Given the description of an element on the screen output the (x, y) to click on. 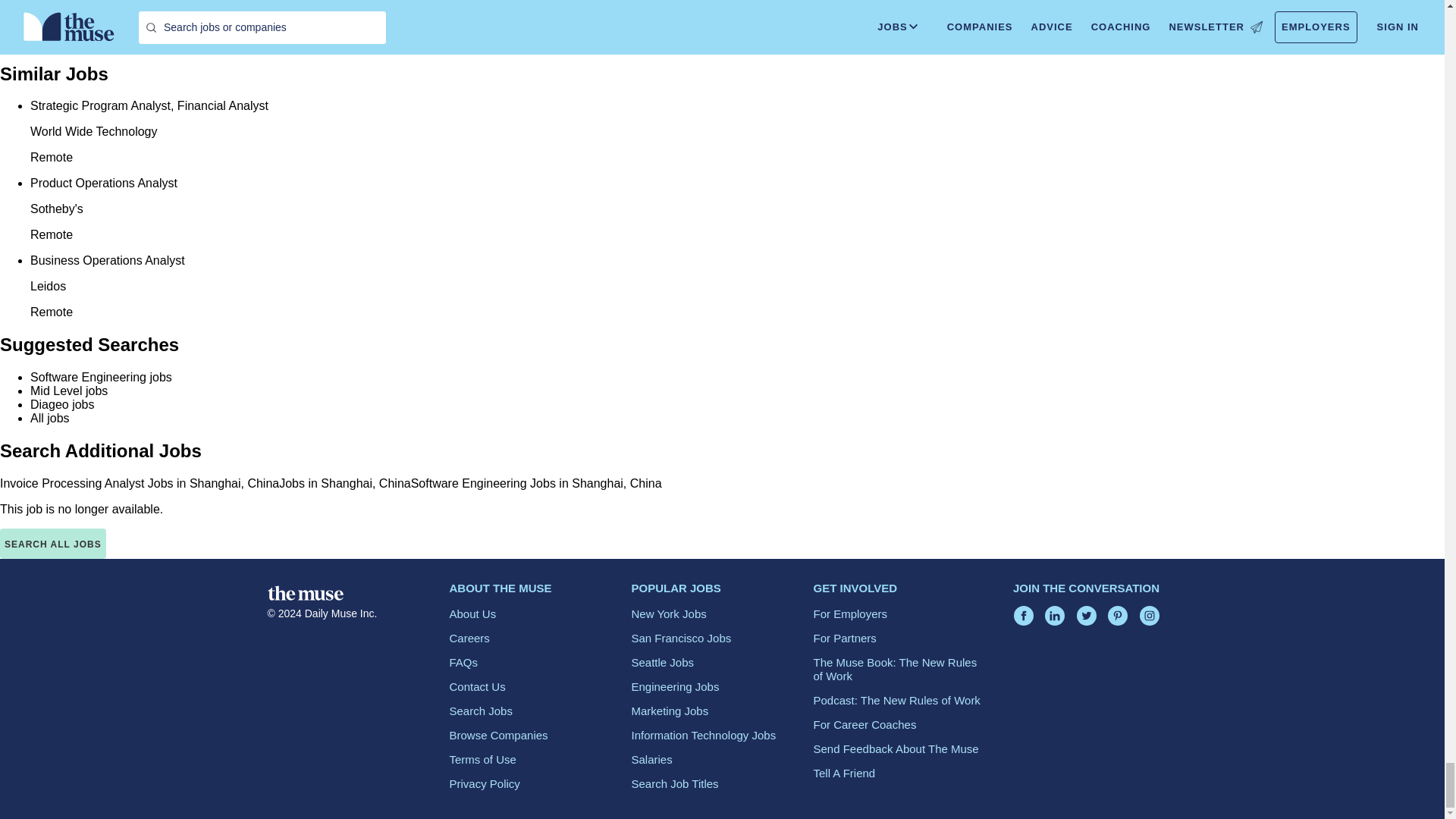
The Muse LogoA logo with "the muse" in white text. (304, 592)
